Given the description of an element on the screen output the (x, y) to click on. 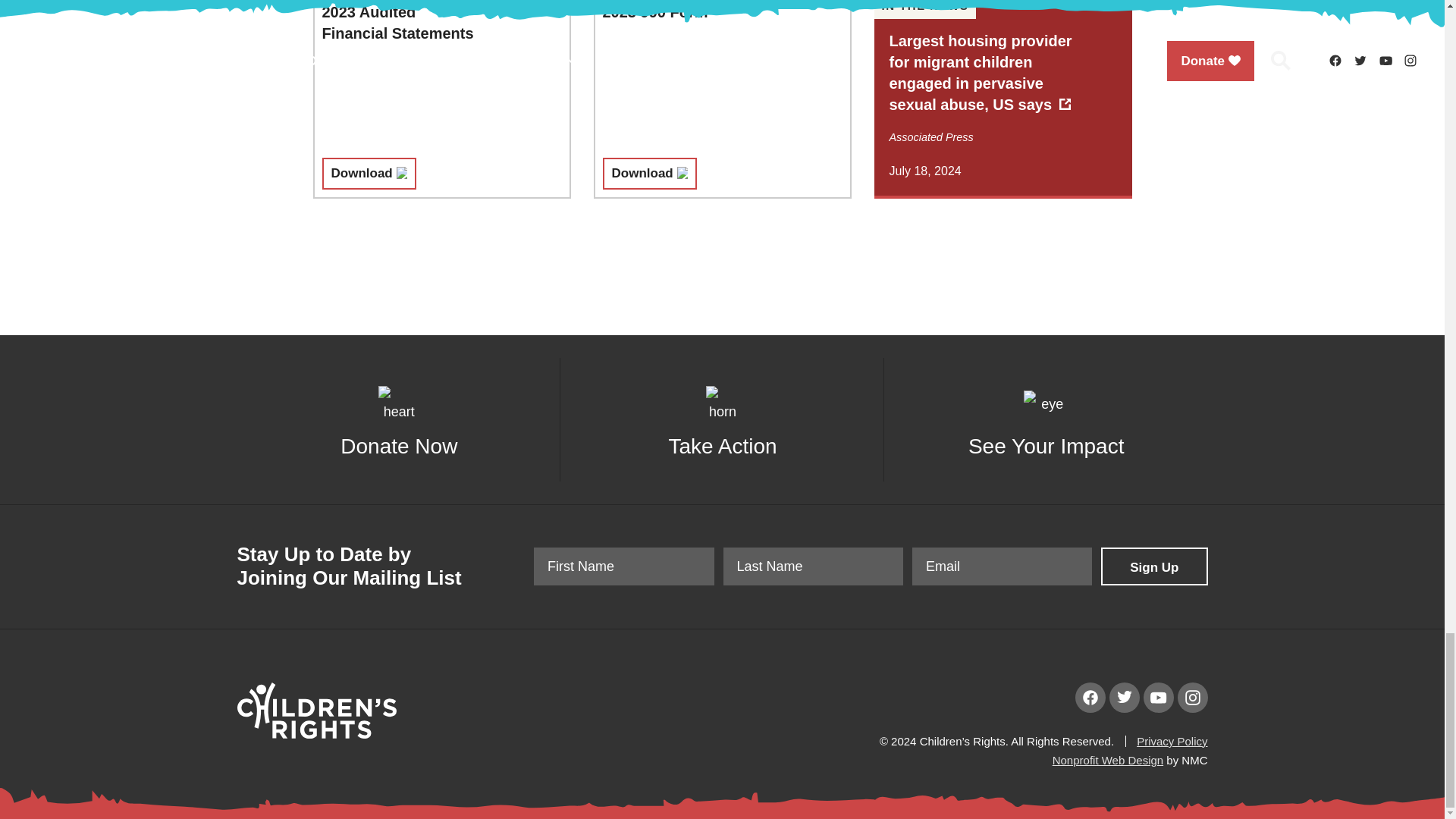
homepage (315, 734)
Sign Up (1153, 566)
